Given the description of an element on the screen output the (x, y) to click on. 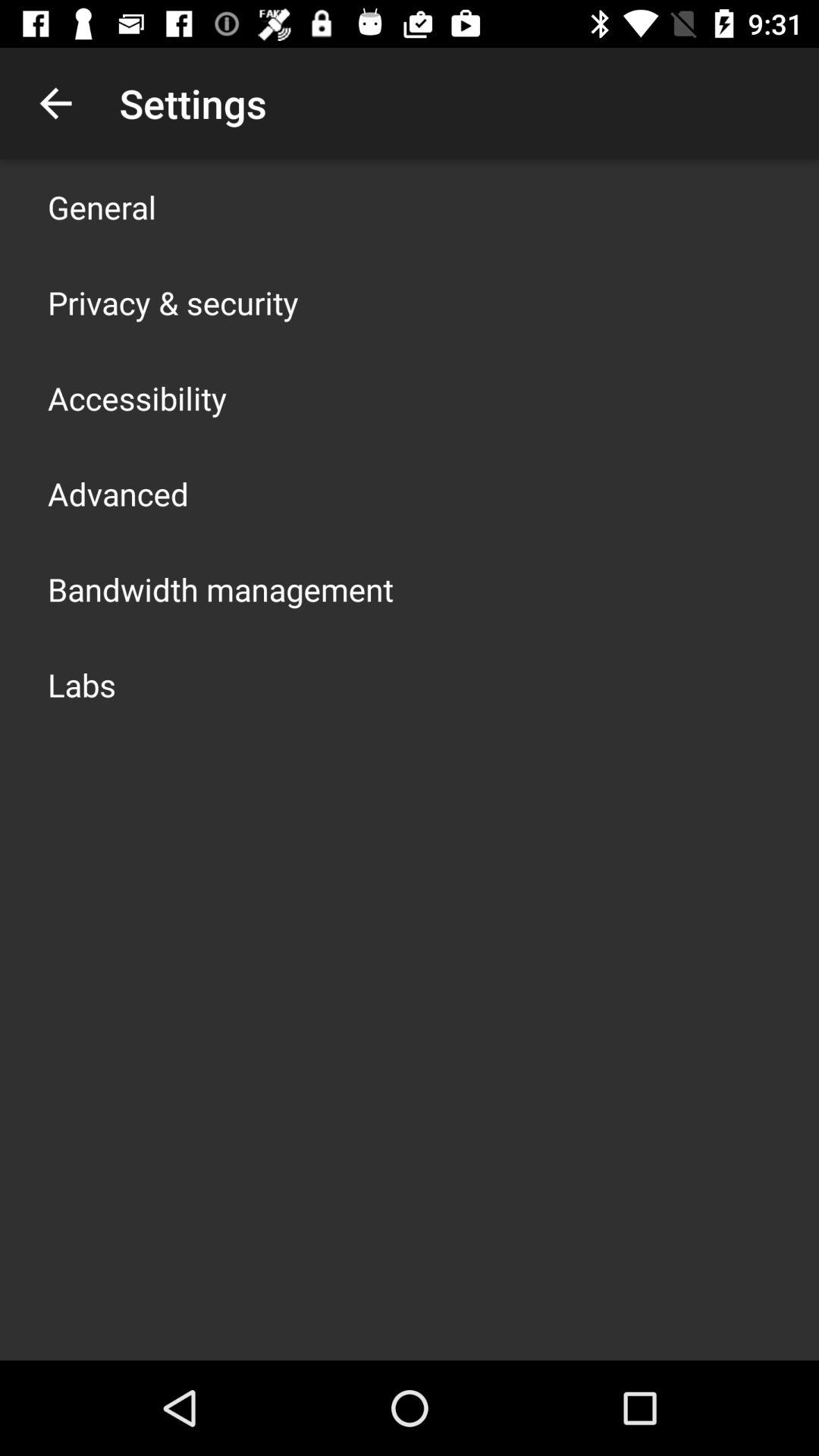
turn on the app below the accessibility item (117, 493)
